Given the description of an element on the screen output the (x, y) to click on. 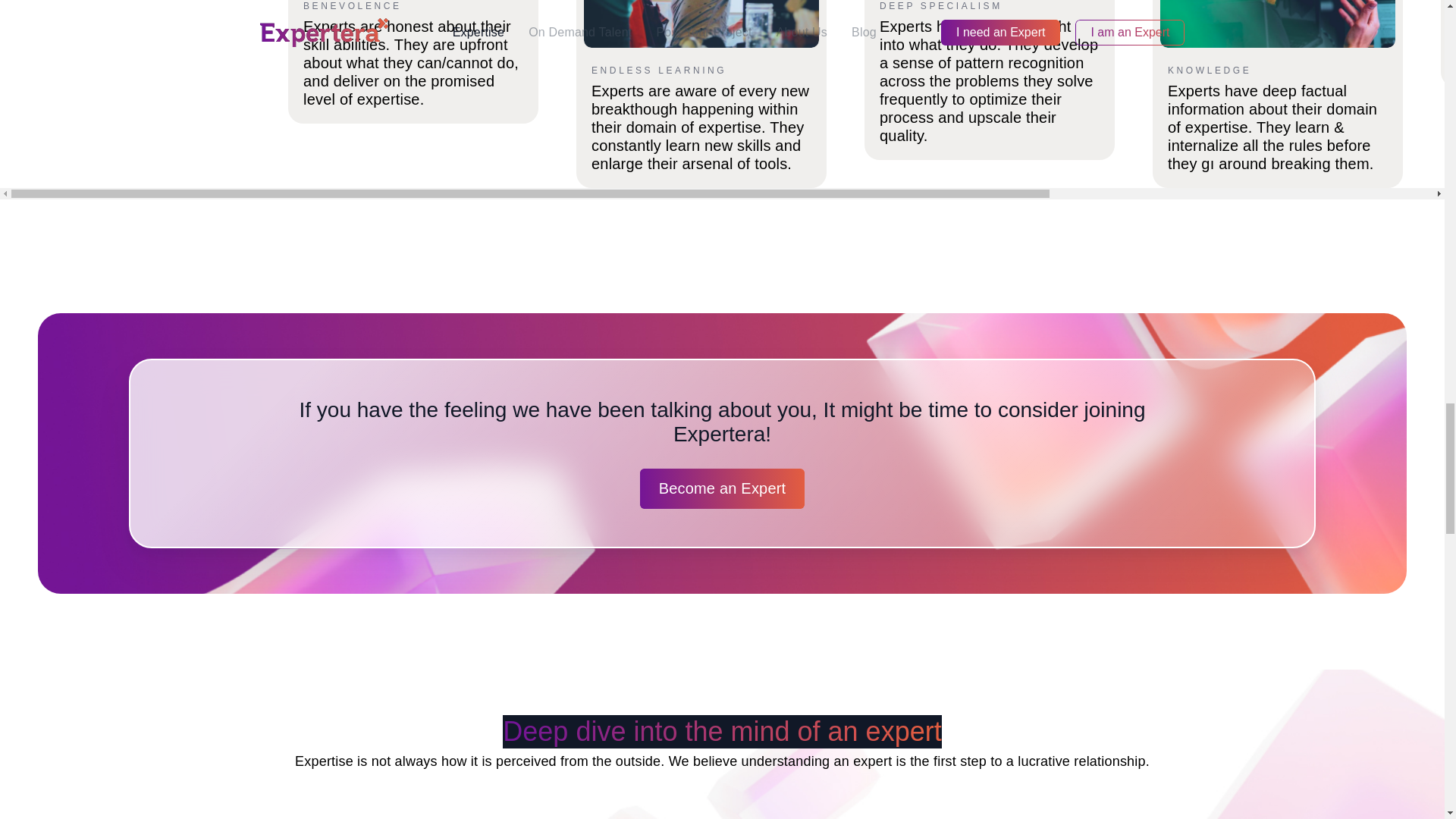
Become an Expert (722, 488)
